Given the description of an element on the screen output the (x, y) to click on. 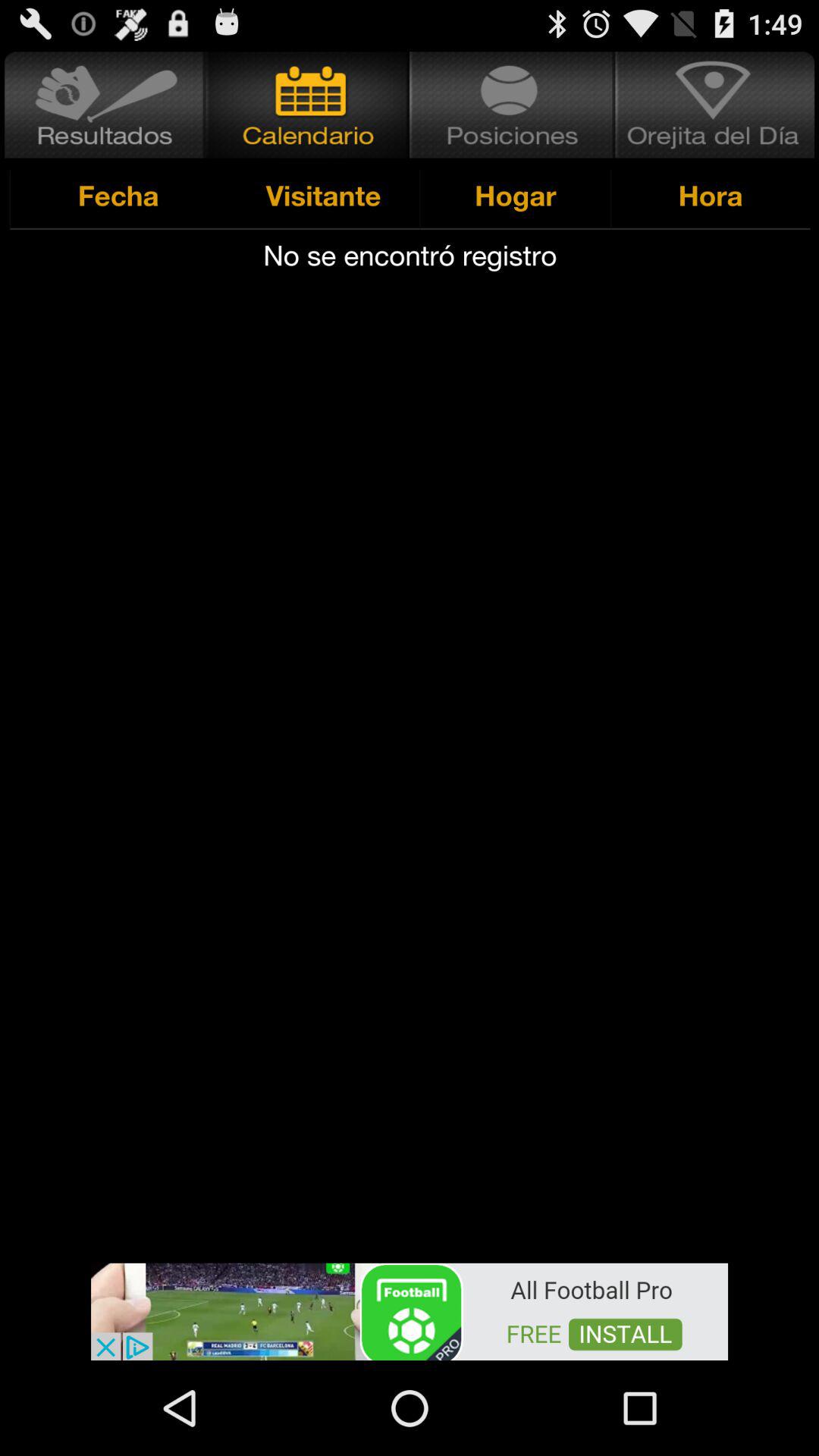
go to posiciones (512, 104)
